Given the description of an element on the screen output the (x, y) to click on. 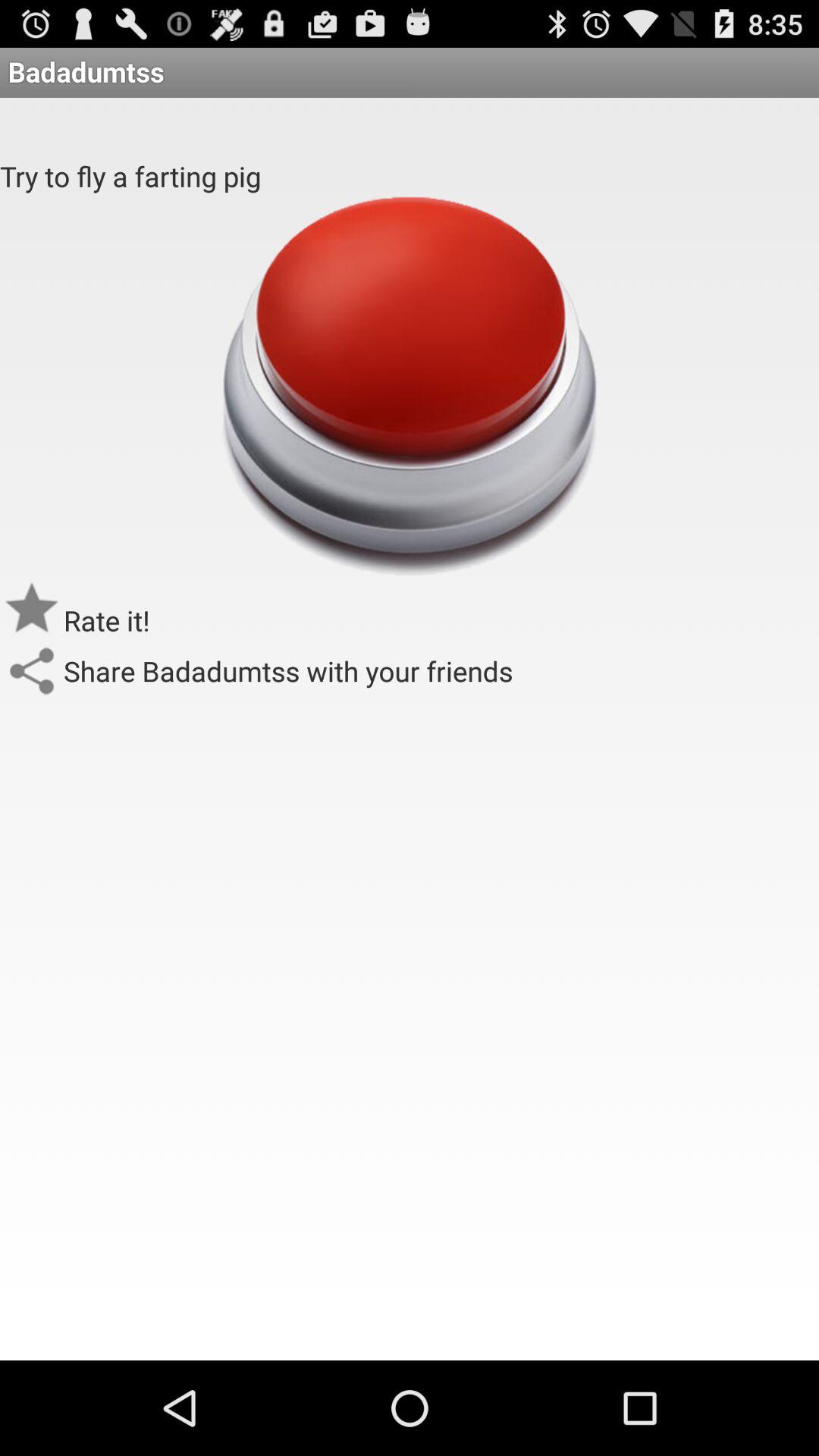
open rate it! app (106, 620)
